Given the description of an element on the screen output the (x, y) to click on. 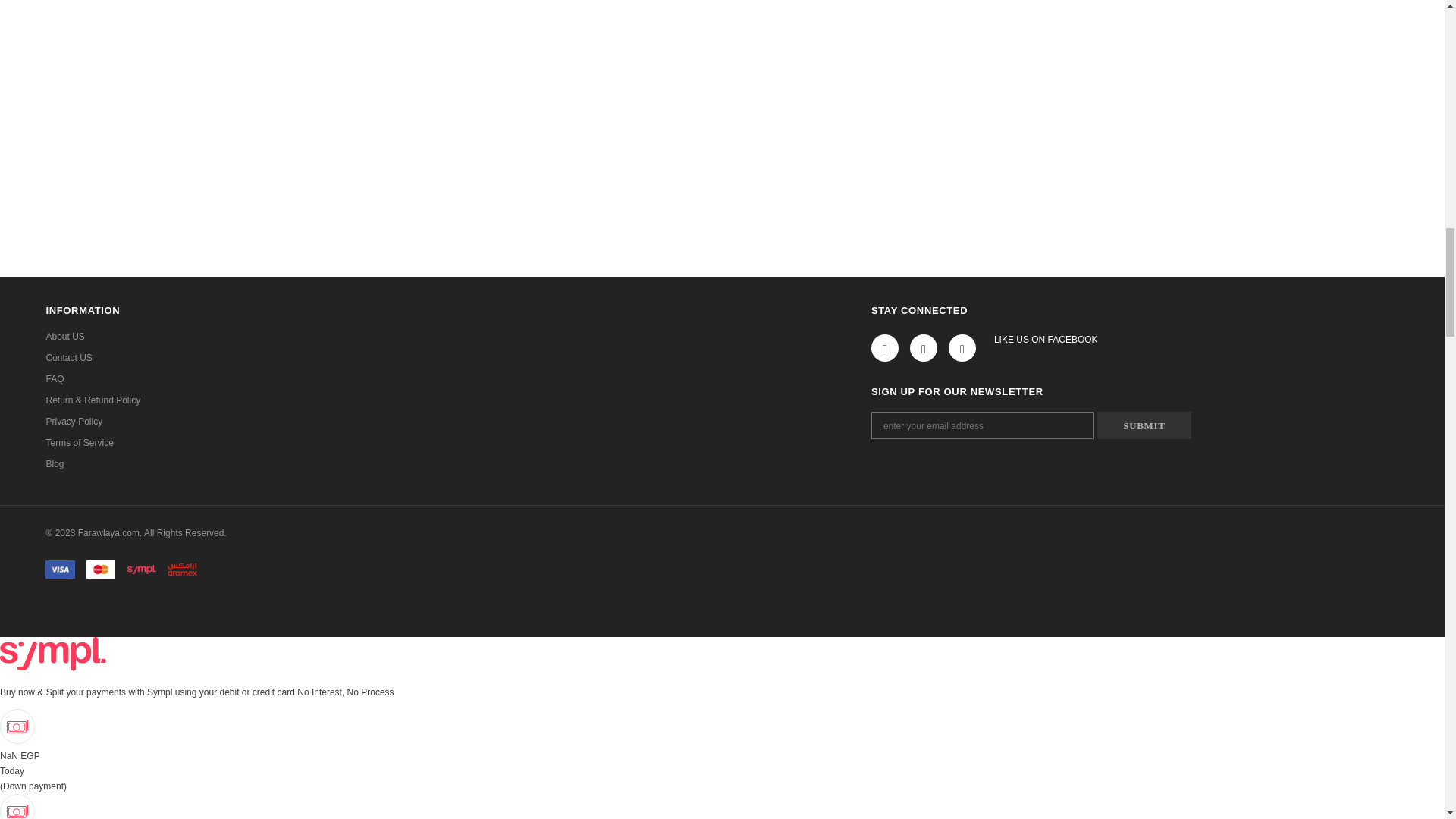
Submit (1144, 424)
